Given the description of an element on the screen output the (x, y) to click on. 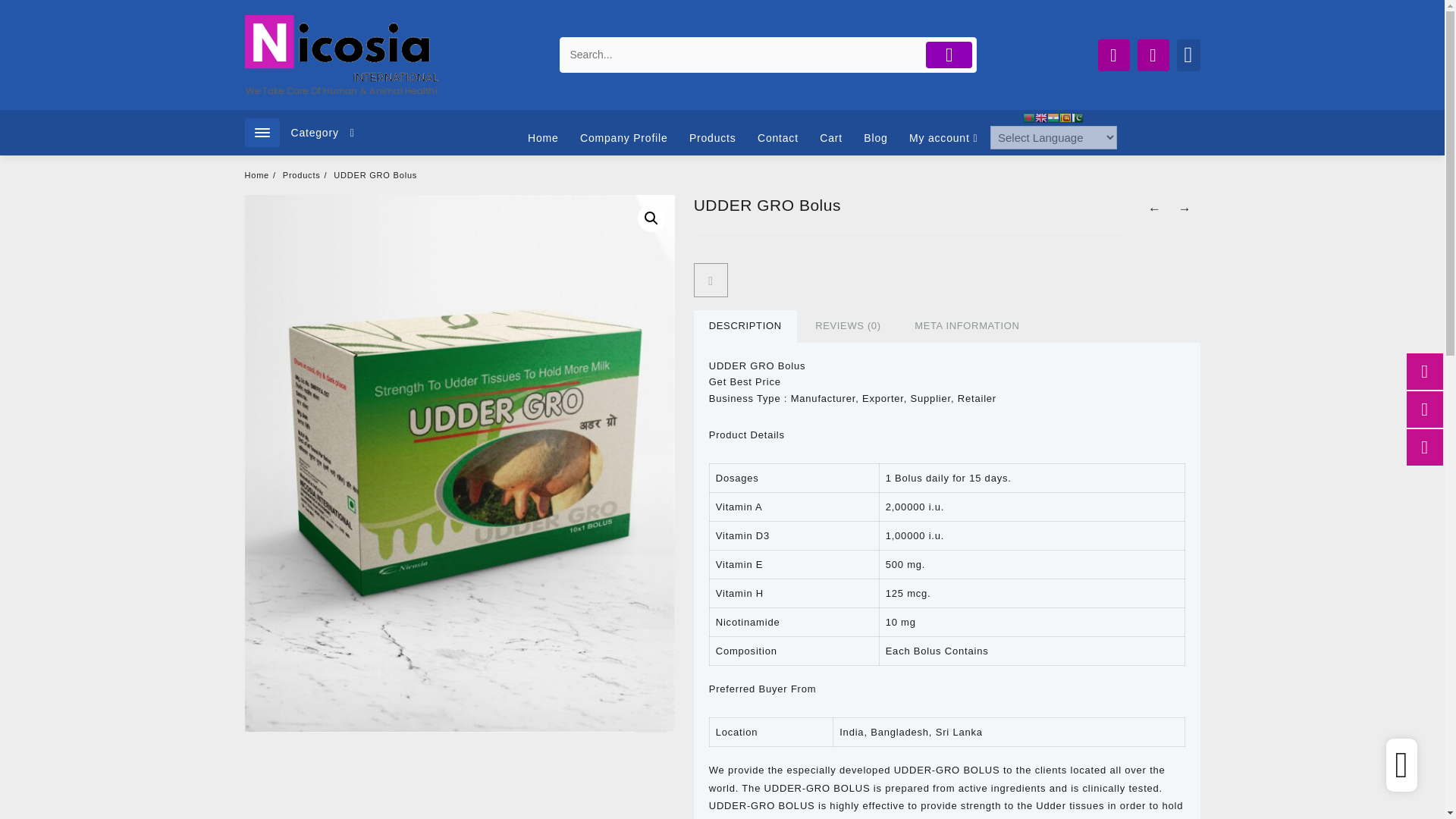
Search (741, 54)
English (1040, 117)
Submit (949, 54)
Bengali (1029, 117)
Hindi (1052, 117)
Urdu (1077, 117)
Sinhala (1065, 117)
